Given the description of an element on the screen output the (x, y) to click on. 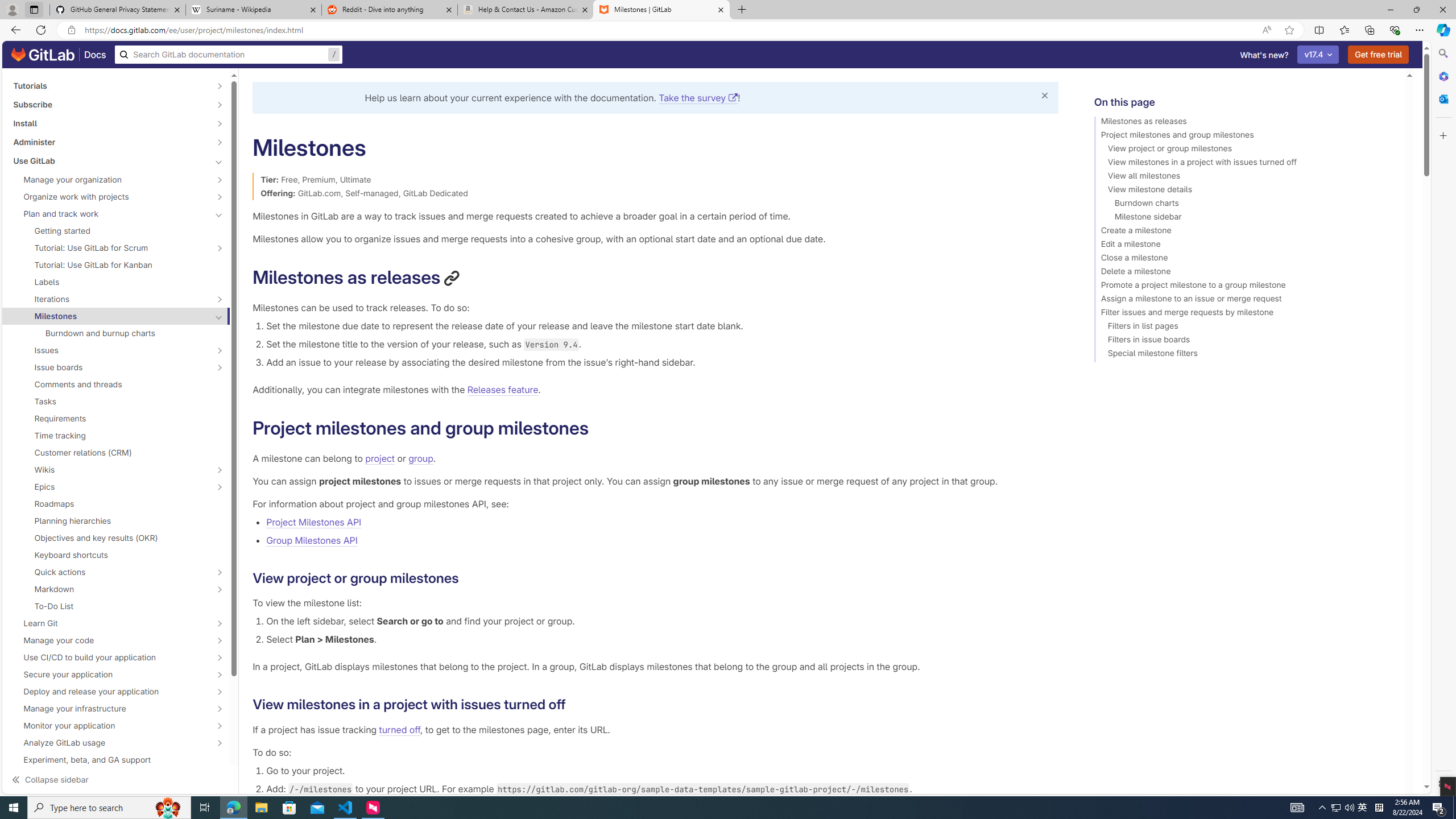
Administer (109, 141)
Install (109, 122)
Milestones | GitLab (660, 9)
Delete a milestone (1244, 273)
View milestones in a project with issues turned off (1244, 164)
Get free trial (1378, 54)
Get free trial (1378, 54)
Close a milestone (1244, 259)
Milestones (109, 316)
Epics (109, 486)
Labels (116, 281)
Use GitLab (109, 160)
